Given the description of an element on the screen output the (x, y) to click on. 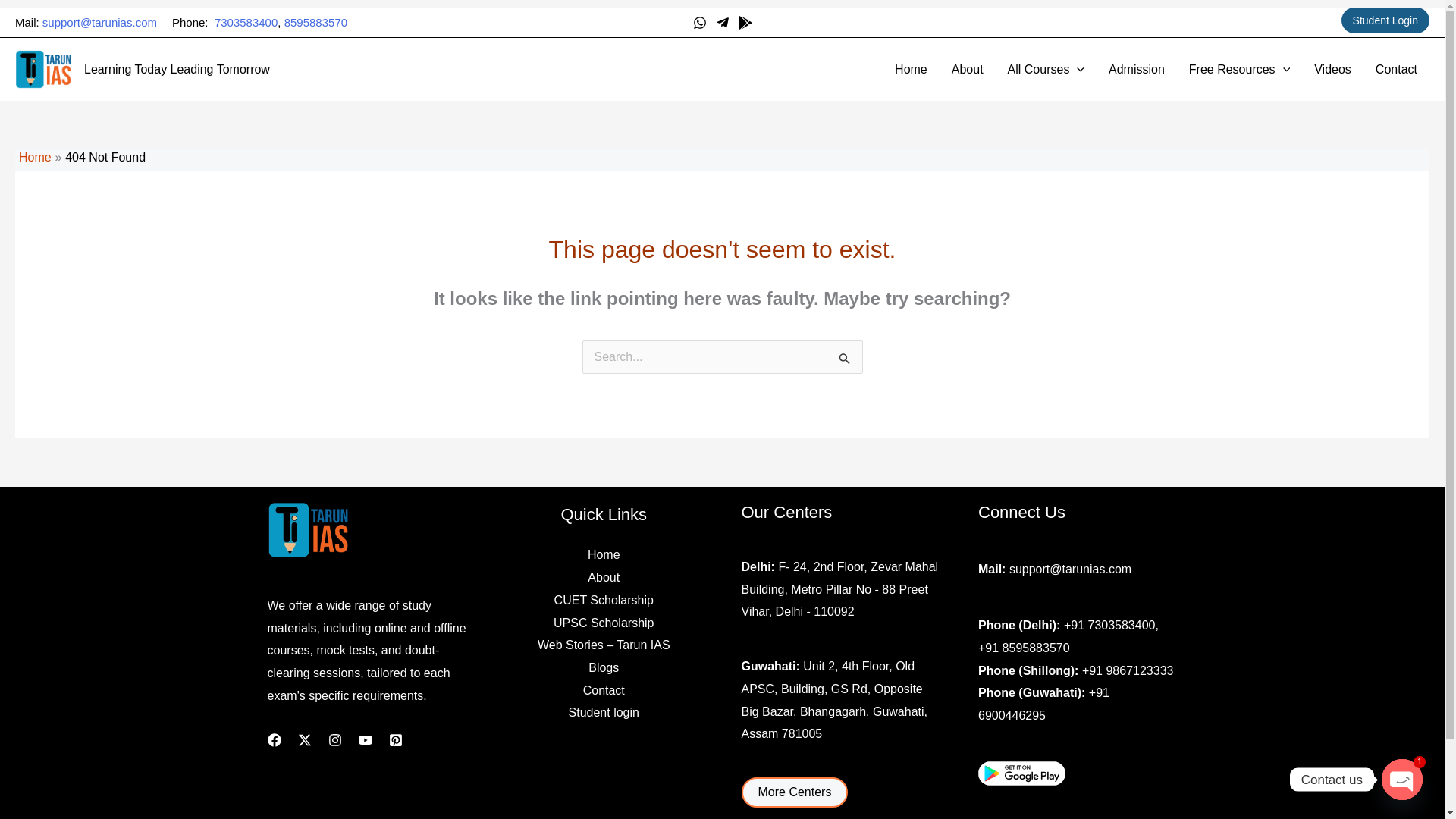
8595883570 (315, 21)
7303583400 (246, 21)
Admission (1136, 69)
Videos (1331, 69)
Contact (1395, 69)
Search (844, 361)
Home (34, 156)
About (967, 69)
Free Resources (1238, 69)
Search (844, 361)
Search (844, 361)
Home (910, 69)
Student Login (1384, 20)
